Given the description of an element on the screen output the (x, y) to click on. 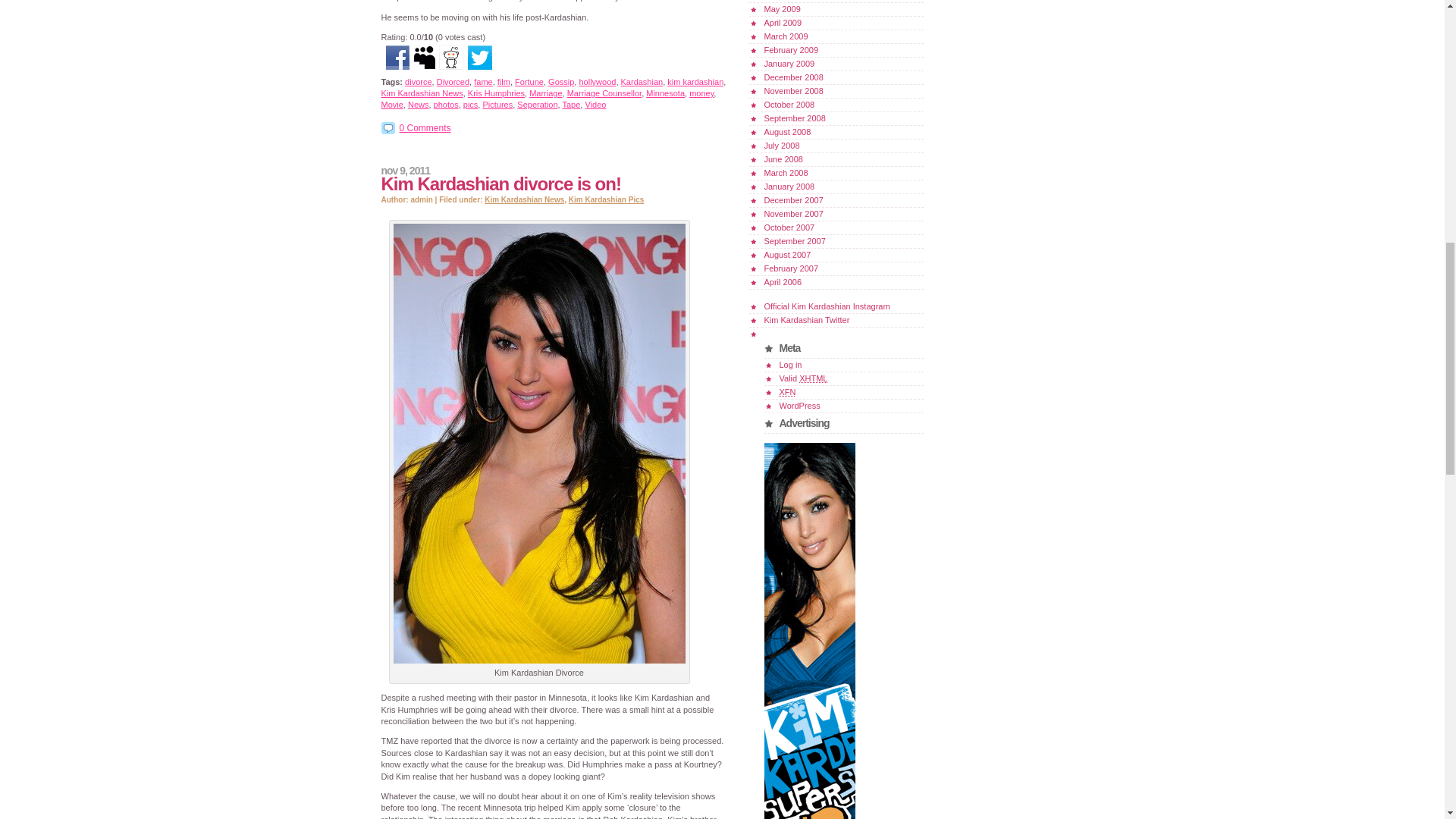
divorce (417, 81)
fame (483, 81)
Divorced (452, 81)
Kardashian (642, 81)
Kris Humphries (495, 92)
Fortune (529, 81)
film (504, 81)
Gossip (560, 81)
Marriage Counsellor (604, 92)
Marriage (545, 92)
money (700, 92)
hollywood (596, 81)
Kim Kardashian News (421, 92)
Minnesota (665, 92)
kim kardashian (694, 81)
